Given the description of an element on the screen output the (x, y) to click on. 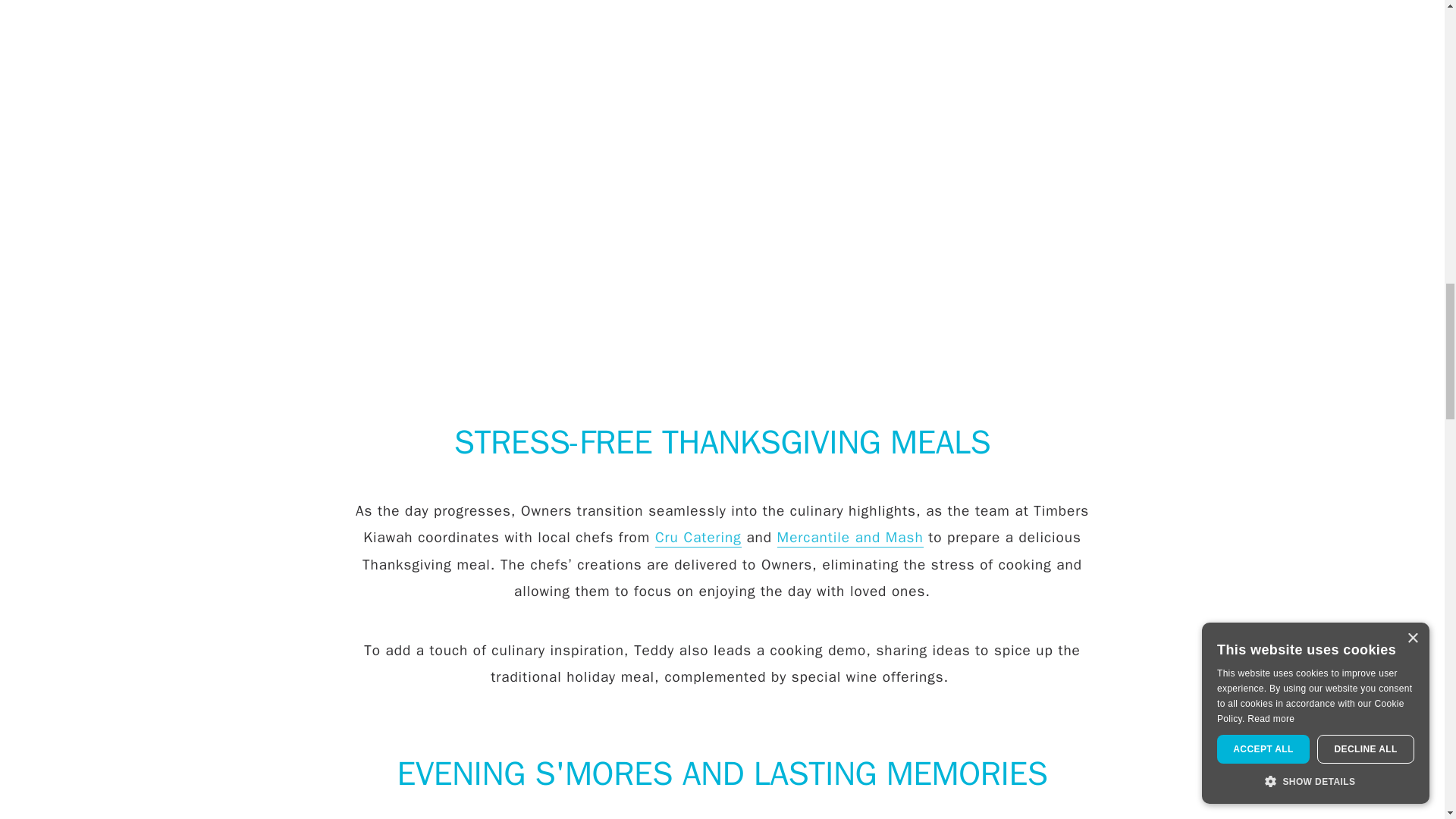
Cru Catering (698, 537)
Mercantile and Mash (850, 537)
